Given the description of an element on the screen output the (x, y) to click on. 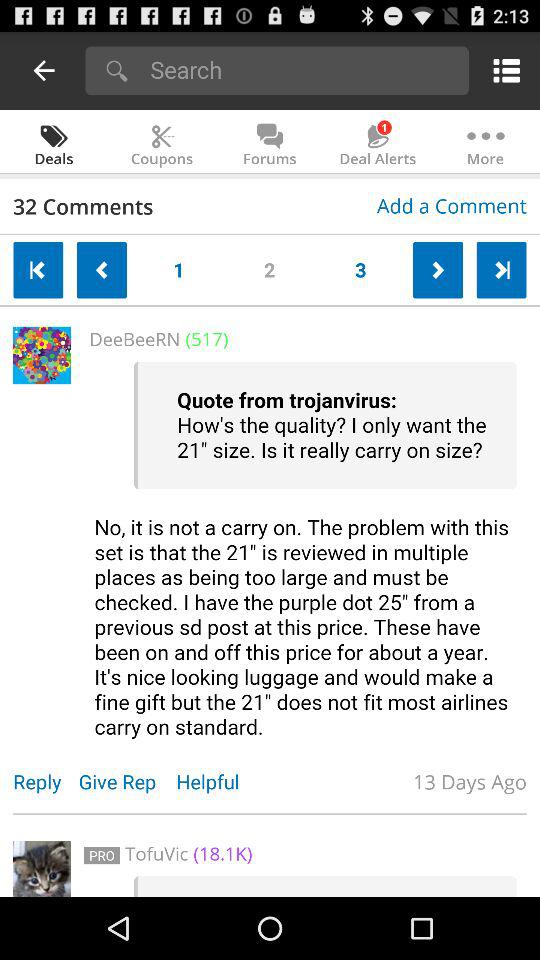
go to next page (501, 270)
